Given the description of an element on the screen output the (x, y) to click on. 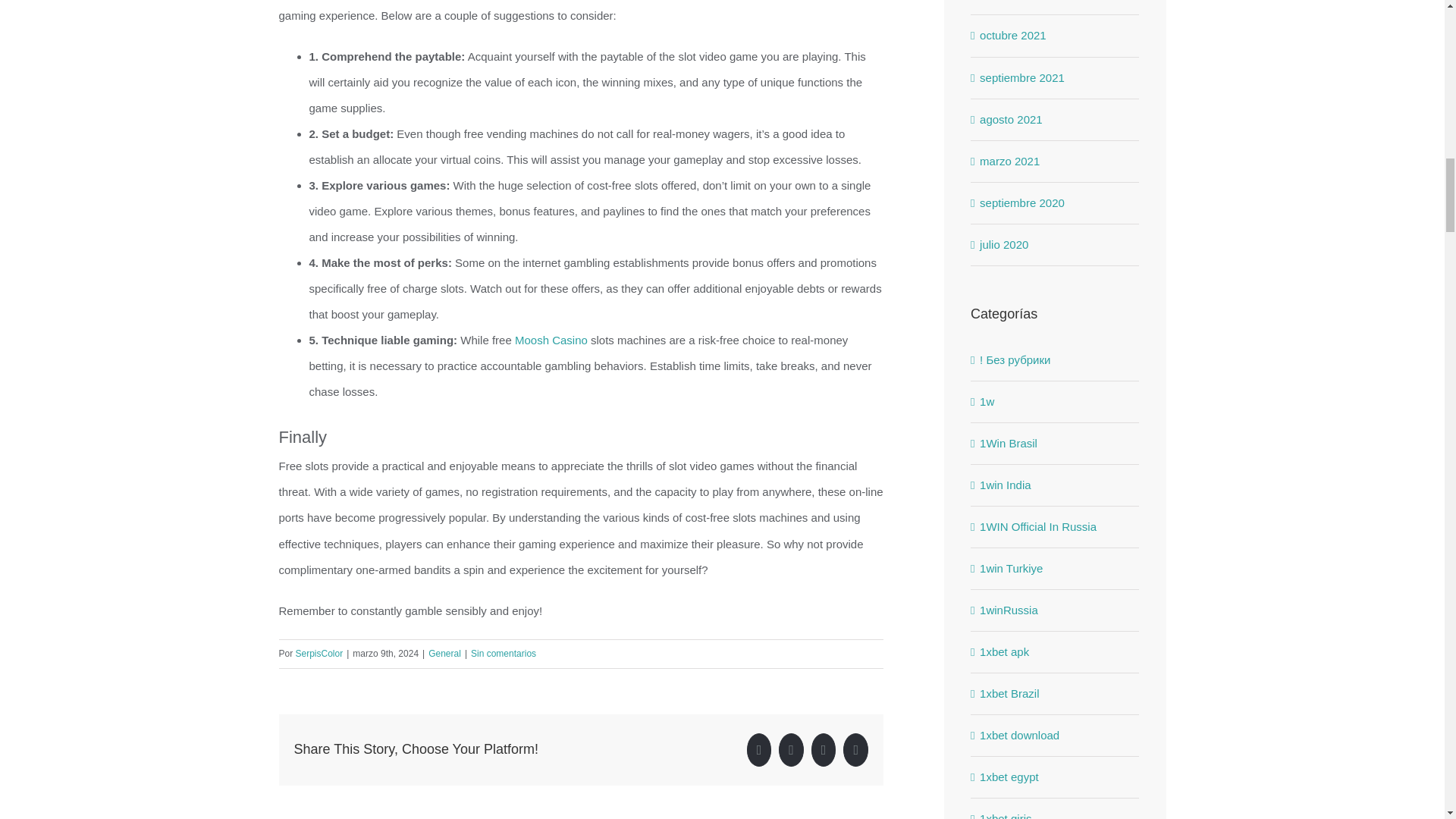
Entradas de SerpisColor (319, 653)
Sin comentarios (502, 653)
Moosh Casino (551, 339)
General (444, 653)
SerpisColor (319, 653)
